Given the description of an element on the screen output the (x, y) to click on. 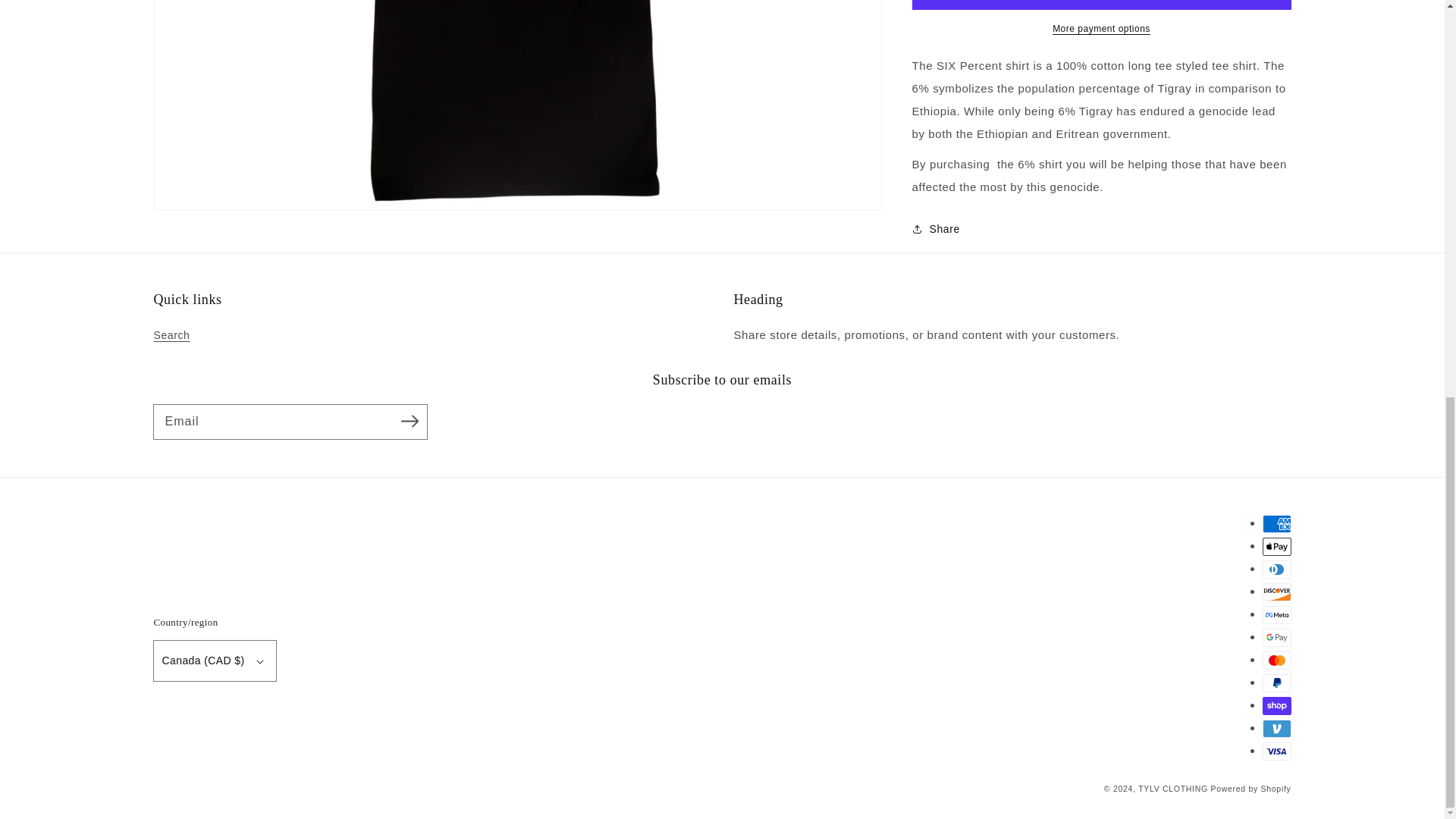
Diners Club (1276, 569)
Venmo (1276, 728)
Meta Pay (1276, 615)
Mastercard (1276, 660)
American Express (1276, 524)
Google Pay (1276, 637)
Discover (1276, 592)
Shop Pay (1276, 705)
PayPal (1276, 683)
